Given the description of an element on the screen output the (x, y) to click on. 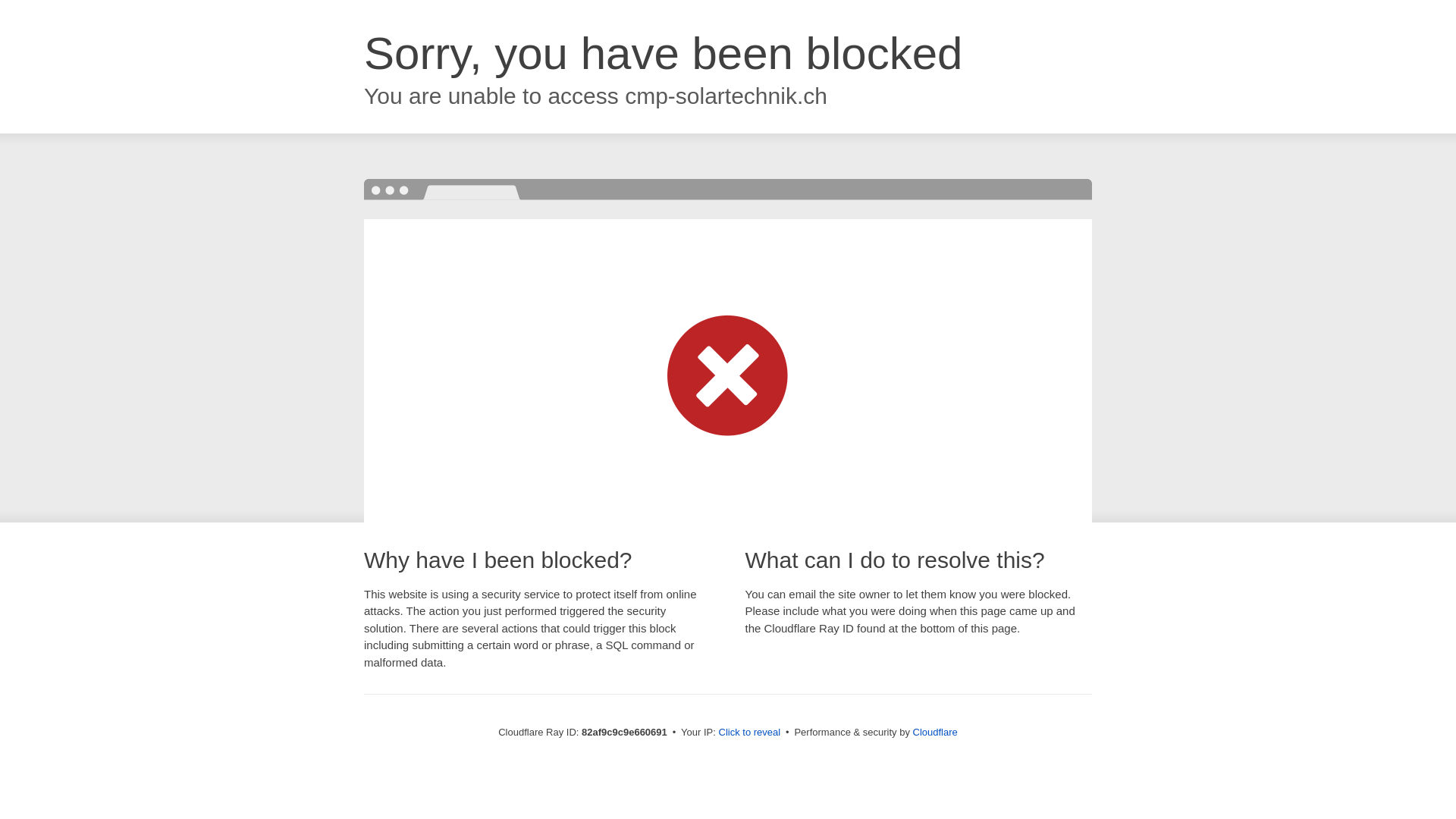
Cloudflare Element type: text (935, 731)
Click to reveal Element type: text (749, 732)
